Given the description of an element on the screen output the (x, y) to click on. 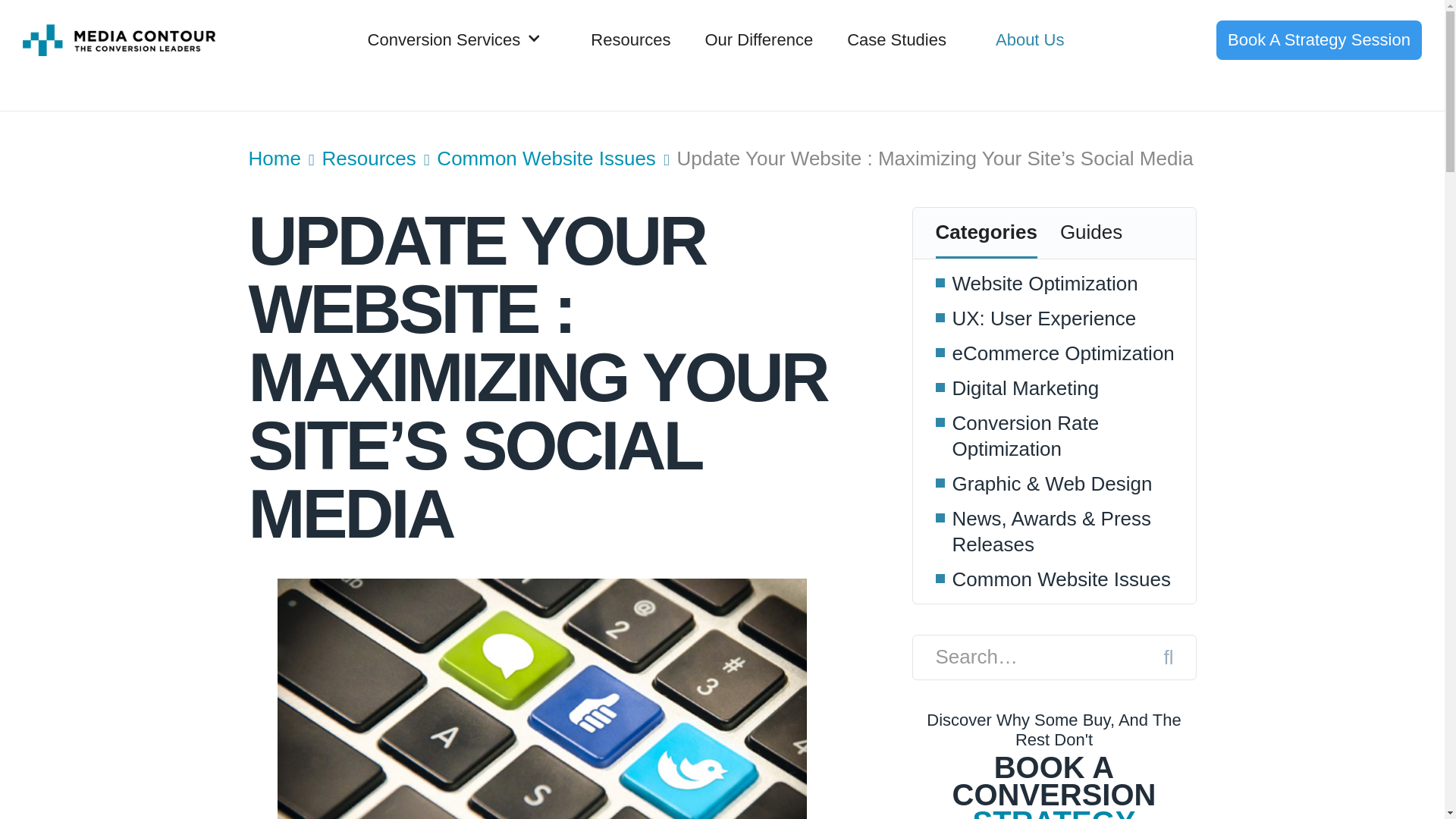
Home (274, 158)
Book A Strategy Session (1318, 39)
Common Website Issues (546, 158)
Categories (986, 233)
Digital Marketing (1025, 388)
Website Optimization (1045, 283)
Common Website Issues (1062, 579)
Case Studies (896, 39)
UX: User Experience (1044, 318)
Conversion Rate Optimization (1068, 435)
